Given the description of an element on the screen output the (x, y) to click on. 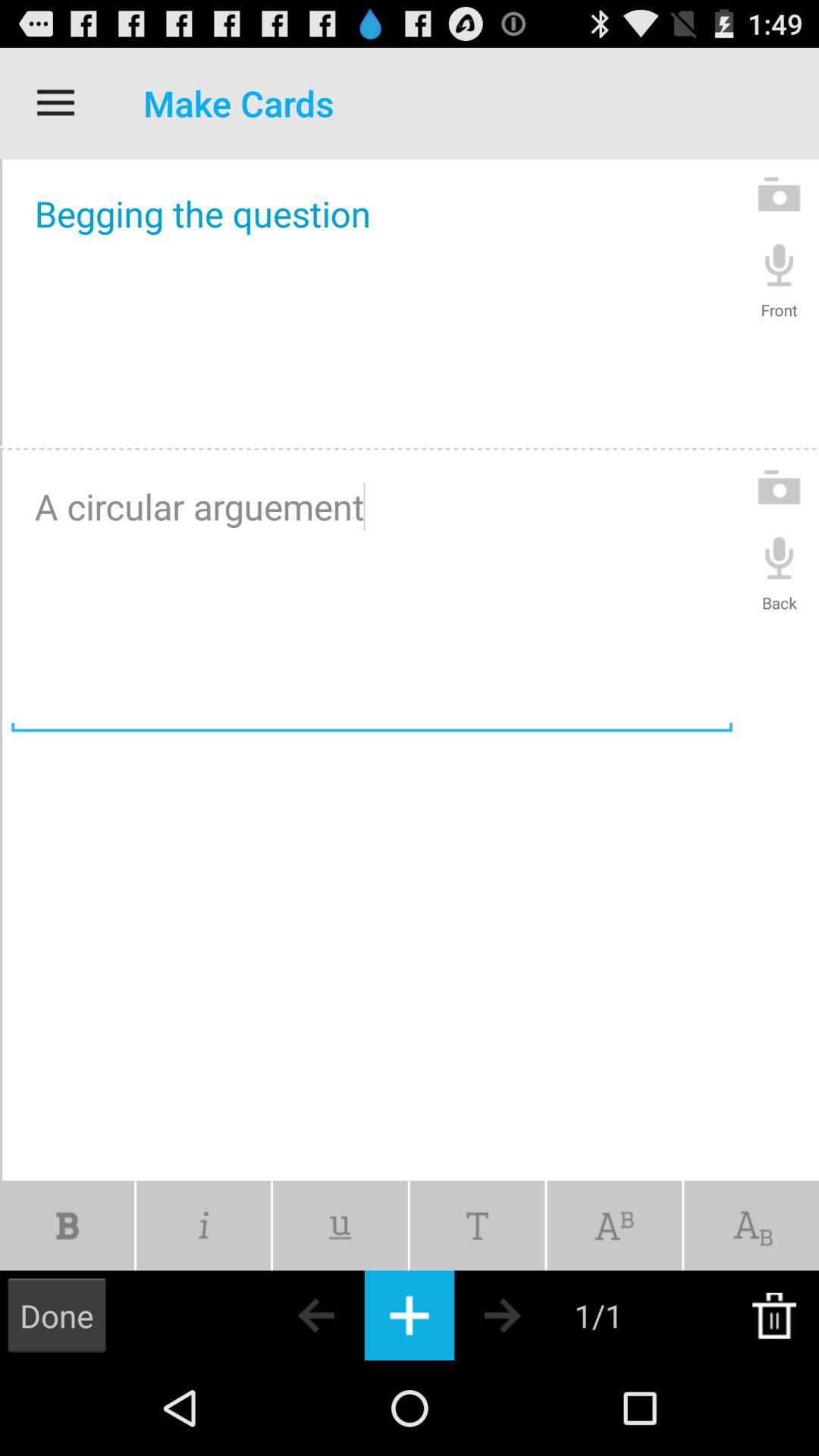
add element (409, 1315)
